Given the description of an element on the screen output the (x, y) to click on. 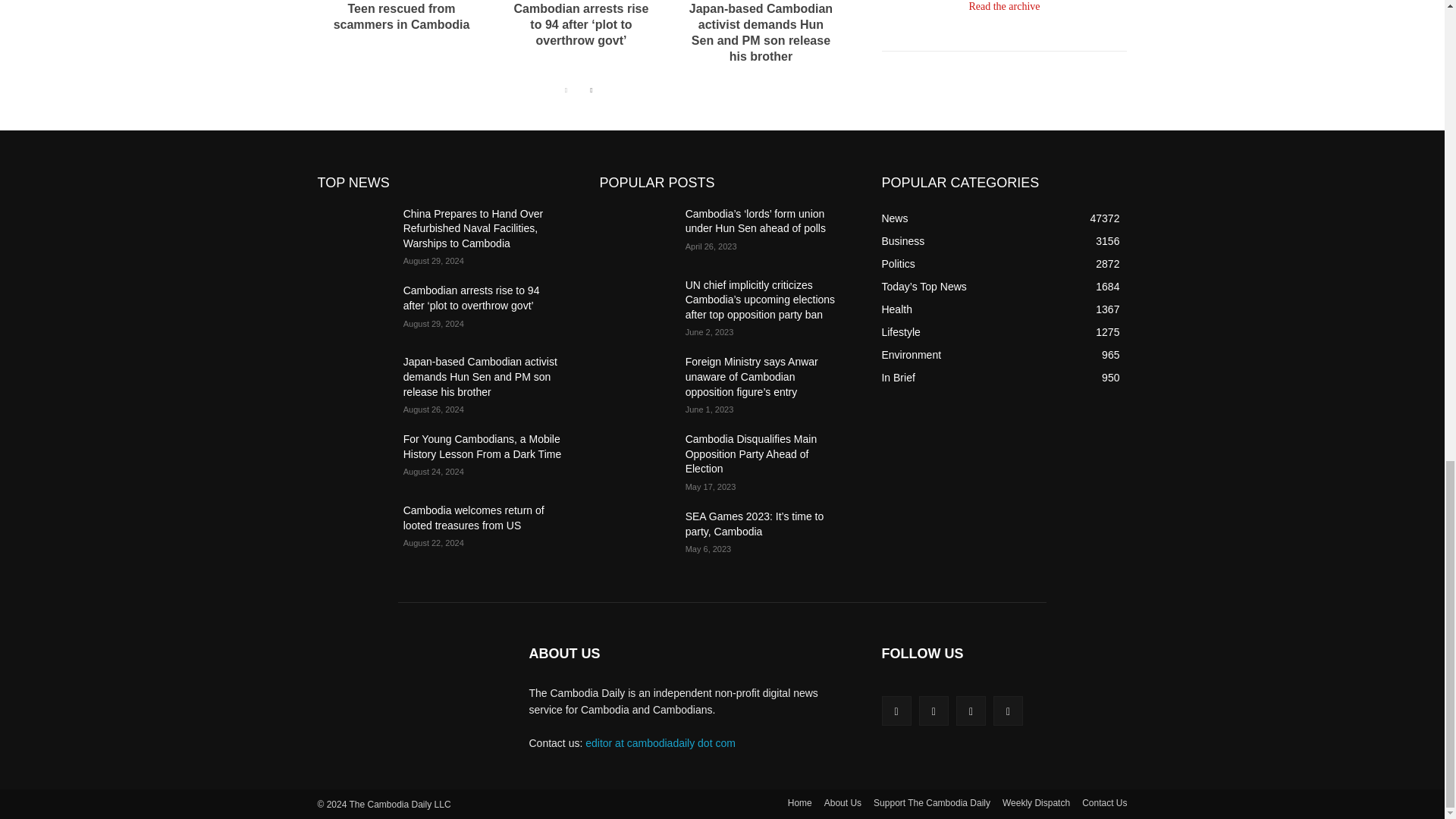
Teen rescued from scammers in Cambodia (401, 16)
Teen rescued from scammers in Cambodia (401, 16)
